Given the description of an element on the screen output the (x, y) to click on. 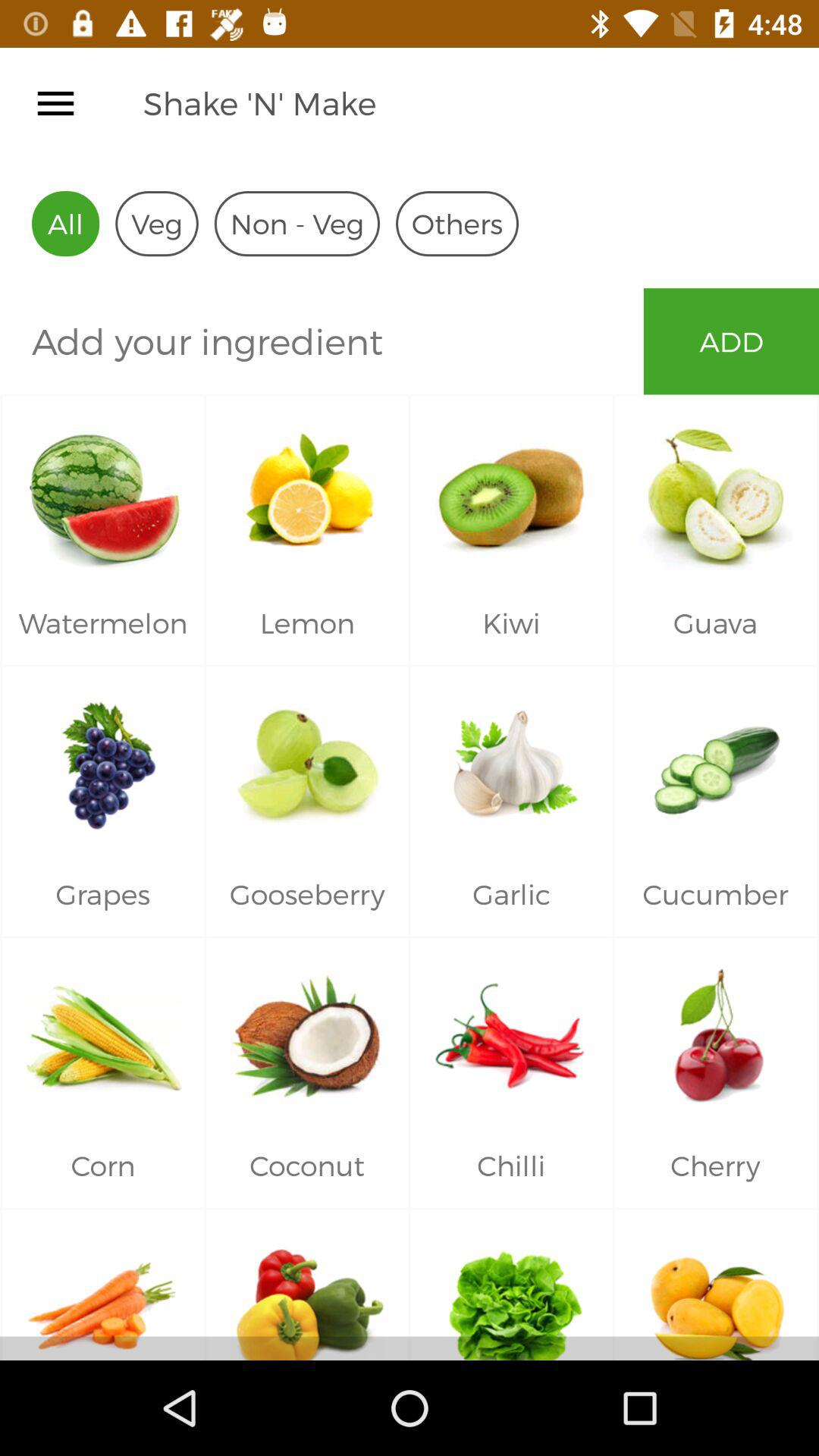
search for ingredient (321, 341)
